Given the description of an element on the screen output the (x, y) to click on. 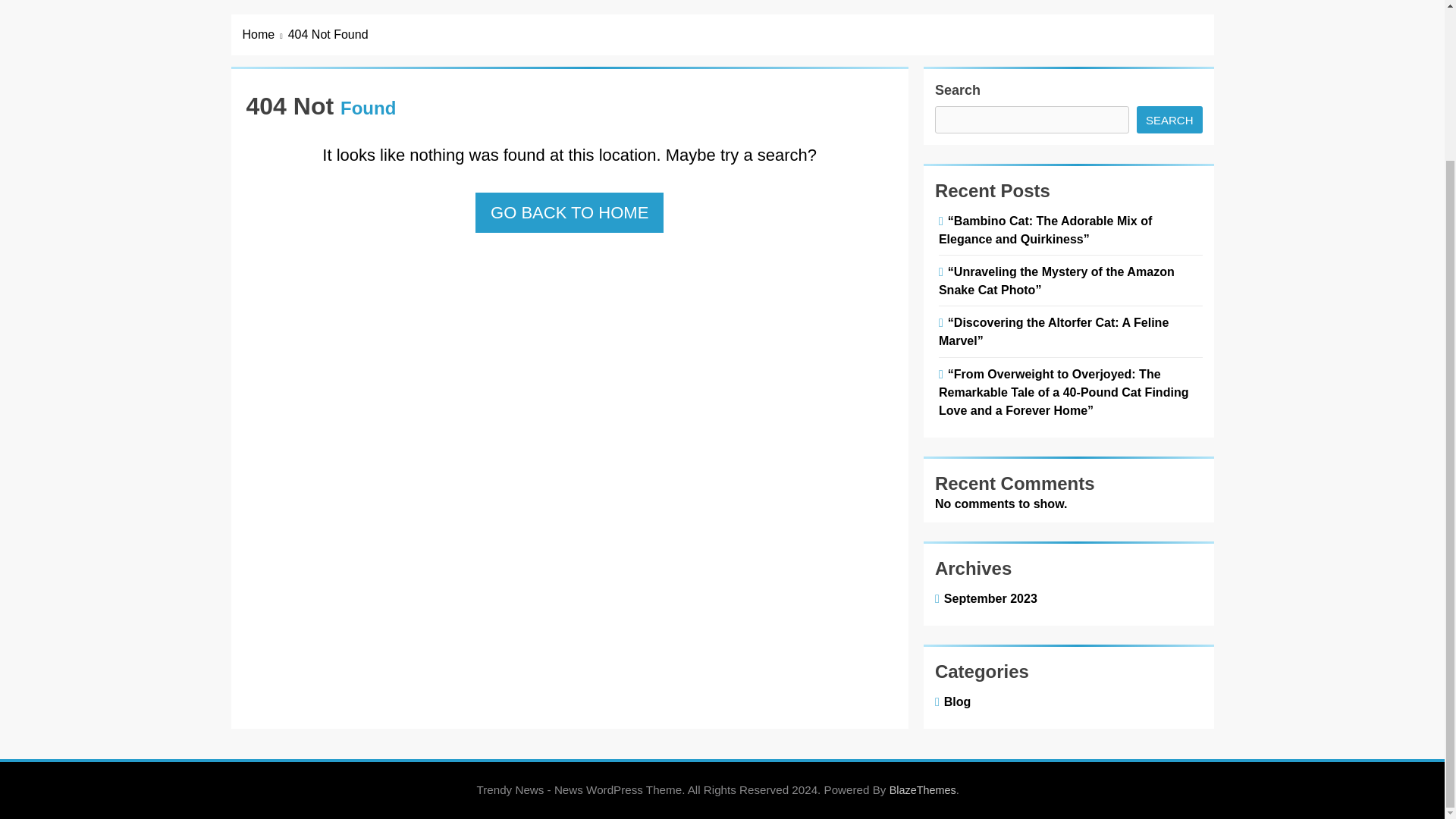
September 2023 (987, 598)
Blog (954, 701)
SEARCH (1169, 119)
GO BACK TO HOME (569, 212)
BlazeThemes (922, 789)
Home (265, 34)
